Given the description of an element on the screen output the (x, y) to click on. 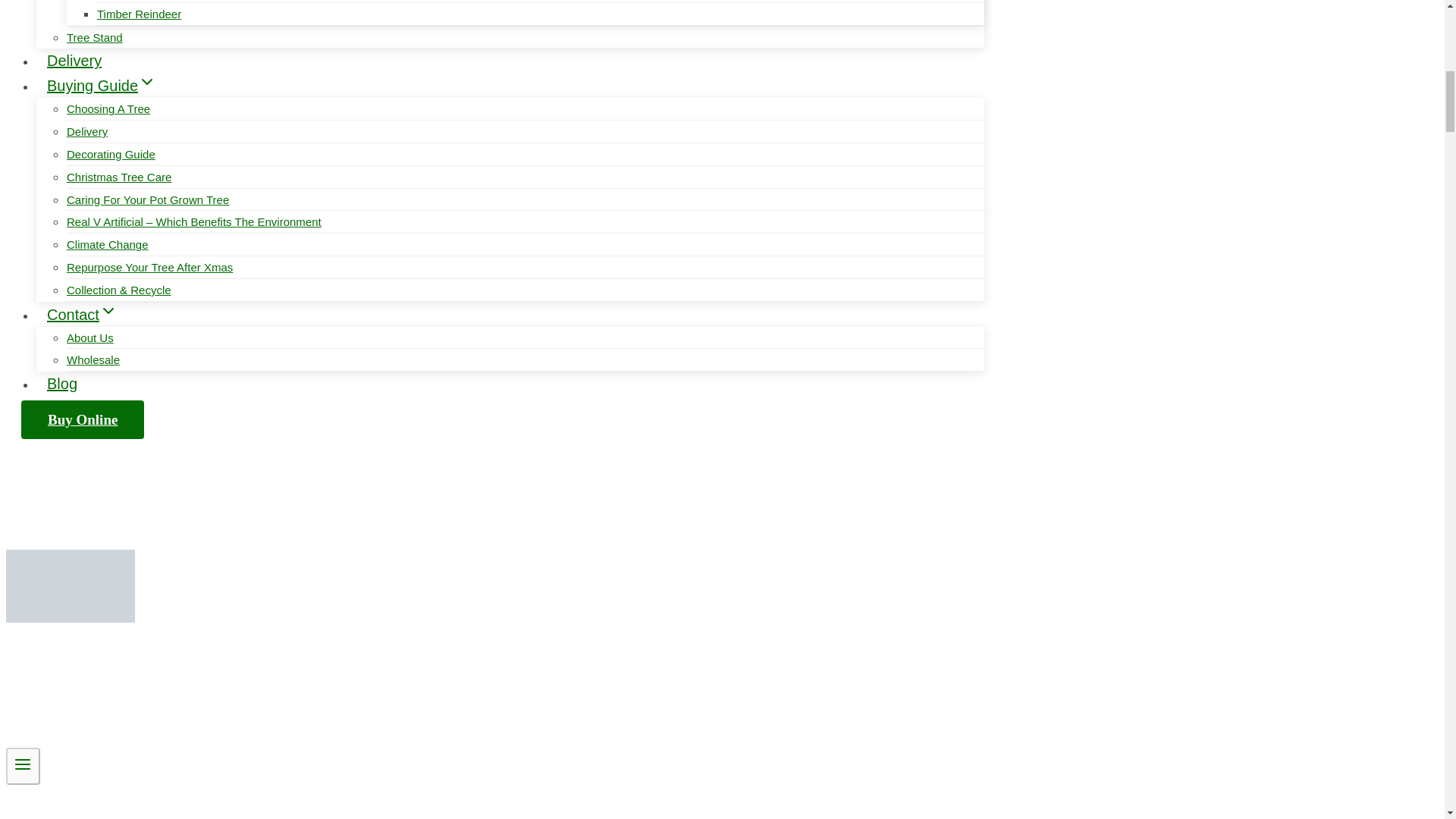
Christmas Wreaths (145, 4)
About Us (89, 337)
Repurpose Your Tree After Xmas (149, 267)
Blog (61, 383)
Delivery (74, 60)
Climate Change (107, 244)
Expand (108, 311)
Decorating Guide (110, 153)
Expand (146, 81)
Buy Online (82, 419)
Delivery (86, 131)
Christmas Tree Care (118, 176)
Caring For Your Pot Grown Tree (147, 199)
Tree Stand (94, 37)
ContactExpand (82, 314)
